Given the description of an element on the screen output the (x, y) to click on. 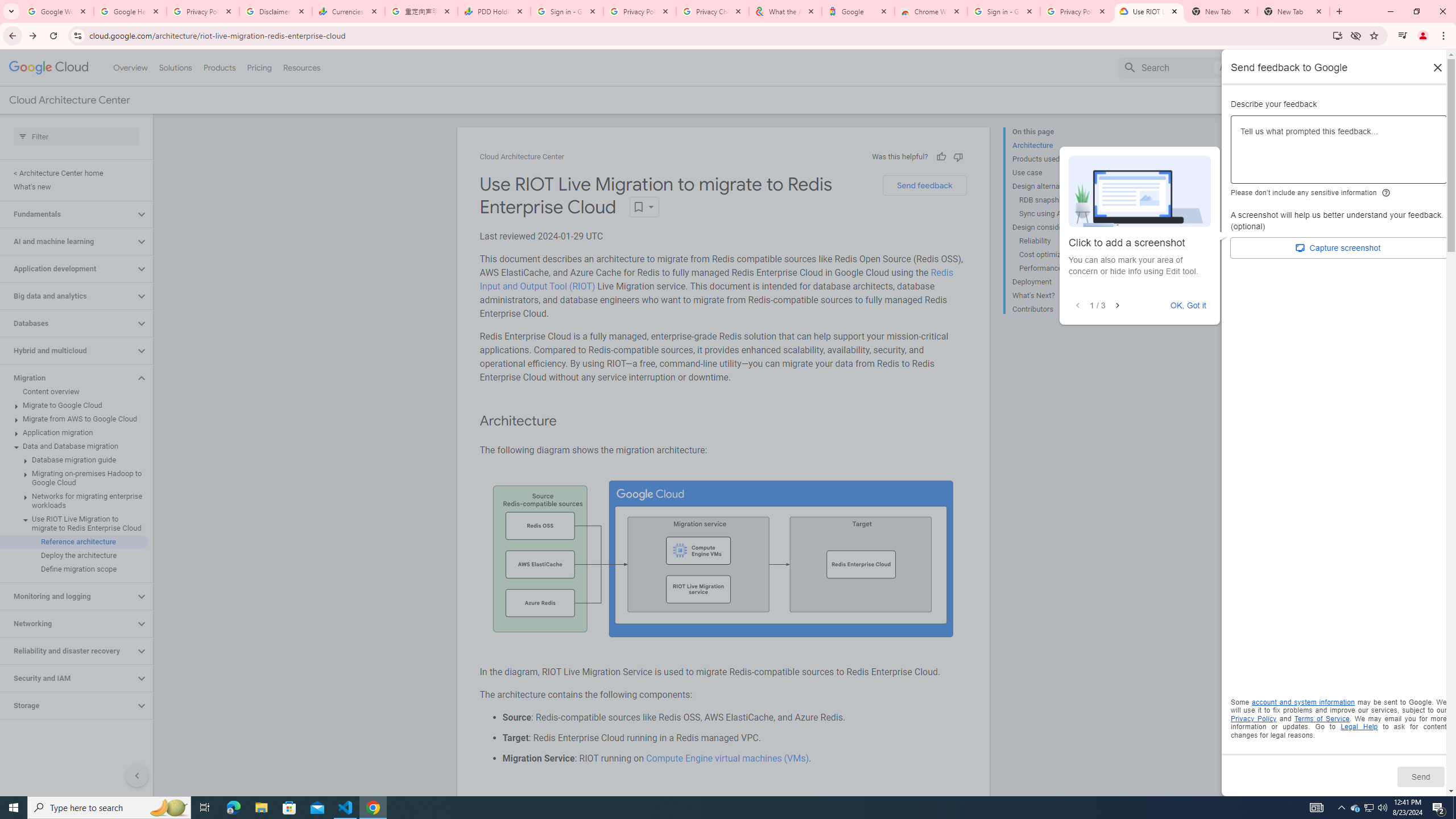
Big data and analytics (67, 296)
Reliability (1062, 241)
What's Next? (1058, 295)
Privacy Checkup (712, 11)
Sync using Active-Passive (1062, 213)
What's new (74, 187)
Cloud Architecture Center (521, 156)
